Given the description of an element on the screen output the (x, y) to click on. 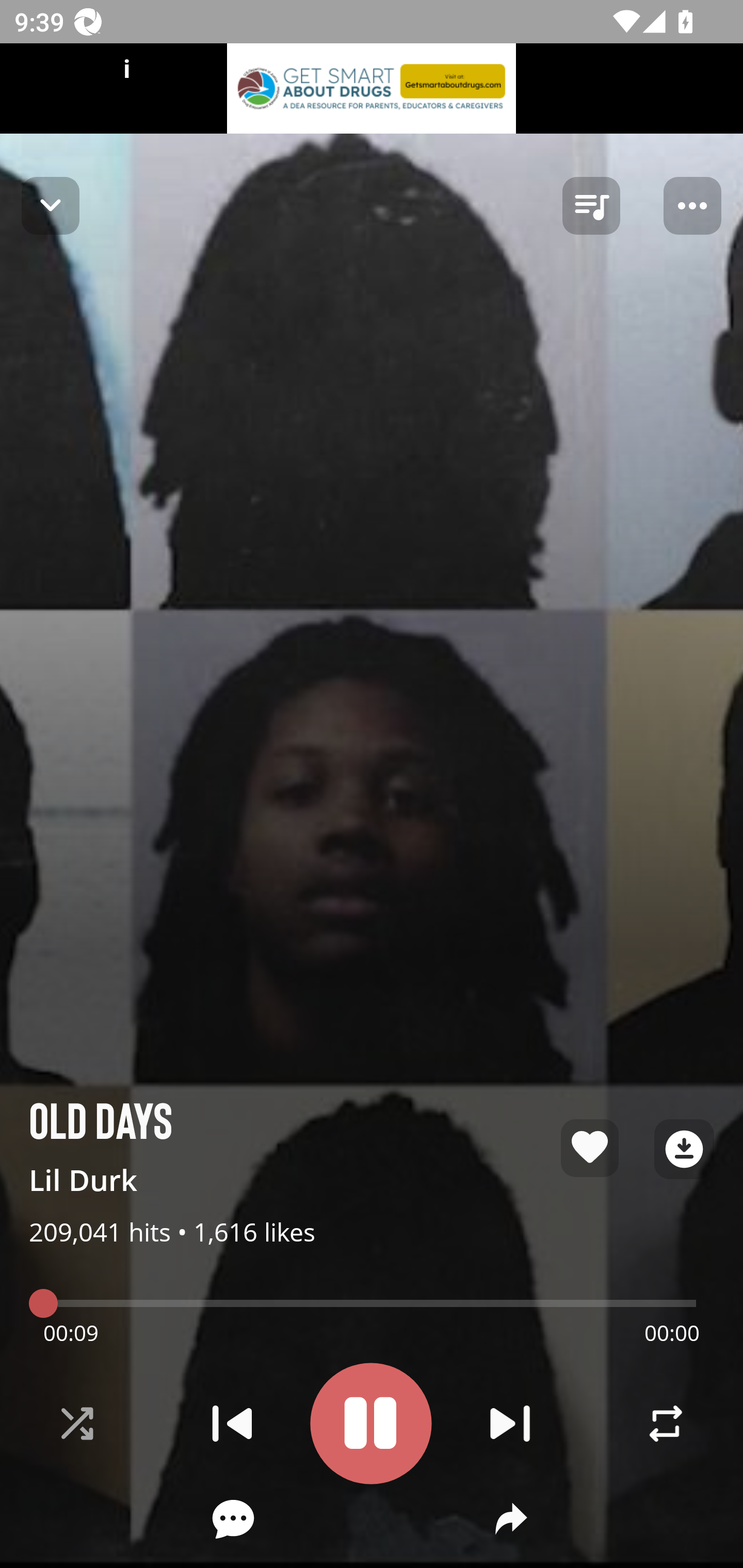
Navigate up (50, 205)
queue (590, 206)
Player options (692, 206)
